Given the description of an element on the screen output the (x, y) to click on. 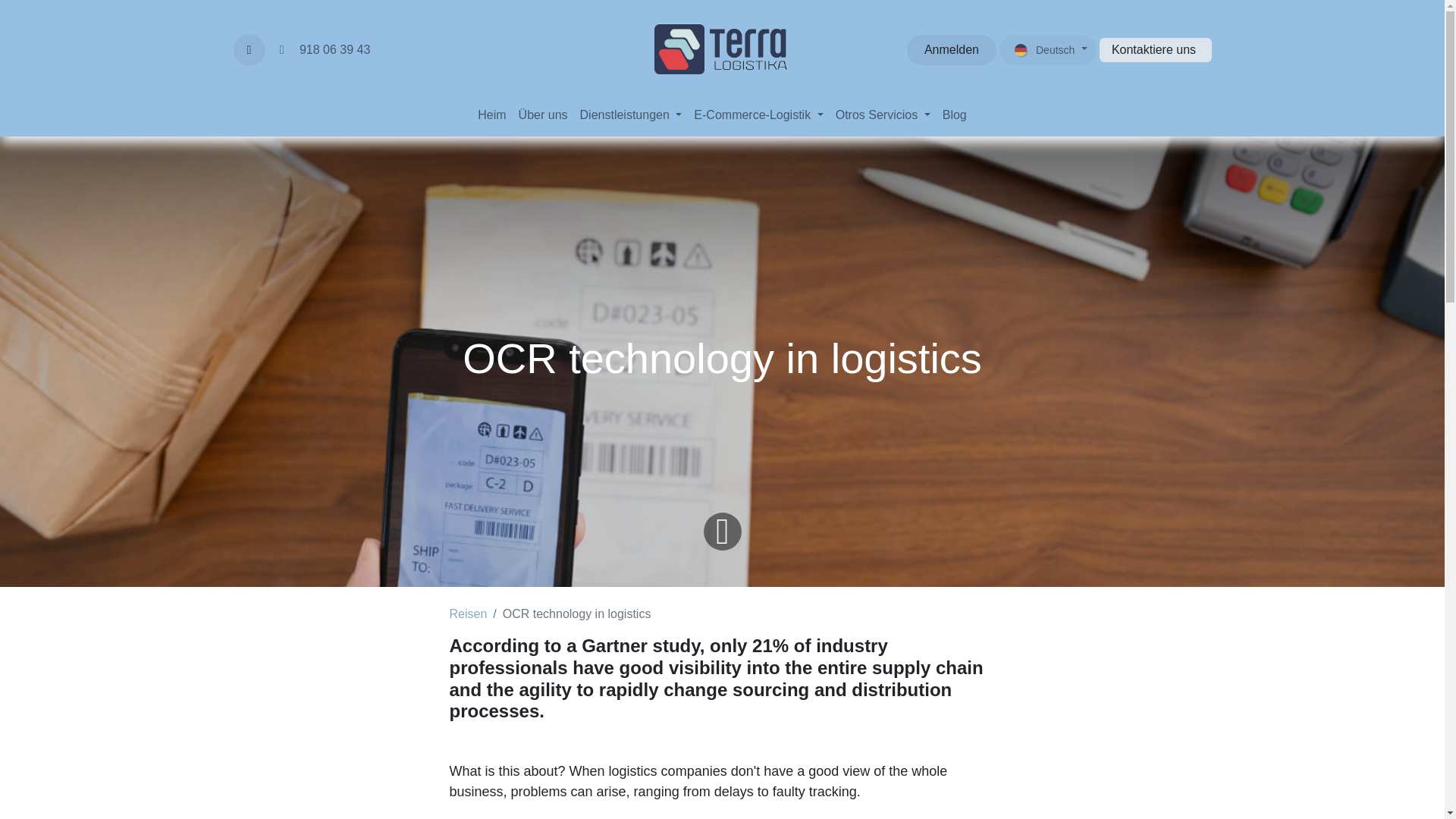
Otros Servicios (882, 114)
Blog (954, 114)
Anmelden (951, 50)
Deutsch (1047, 50)
Suchen (248, 50)
Dienstleistungen (630, 114)
Kontaktiere uns  (1155, 49)
E-Commerce-Logistik (757, 114)
Terra Logistika Servicios Integrales SL (722, 49)
Heim (491, 114)
  918 06 39 43 (322, 50)
